Given the description of an element on the screen output the (x, y) to click on. 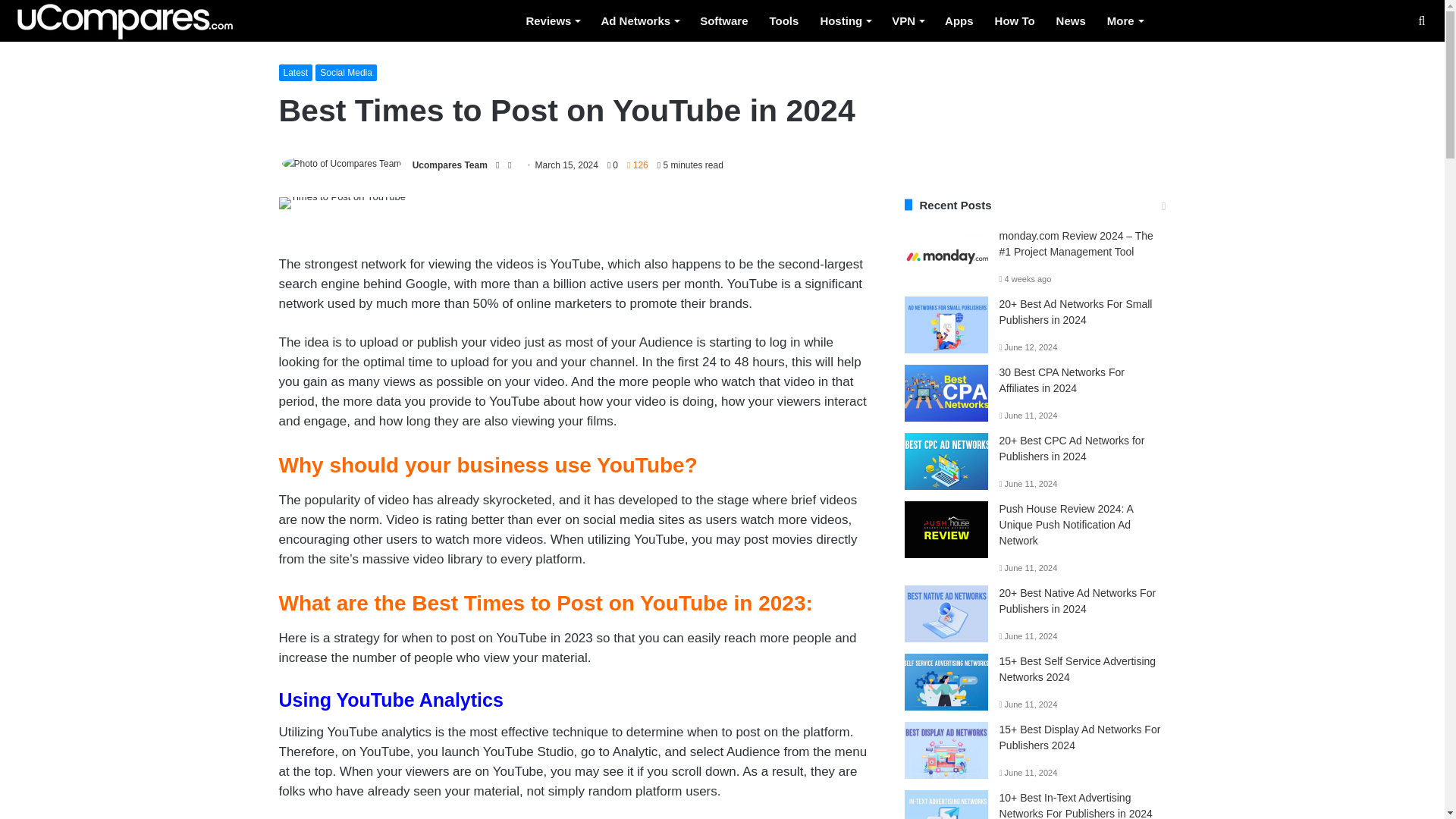
Hosting (844, 20)
Tools (783, 20)
Software (723, 20)
Reviews (552, 20)
Ad Networks (638, 20)
uCompares.com (124, 21)
Ucompares Team (449, 160)
